Given the description of an element on the screen output the (x, y) to click on. 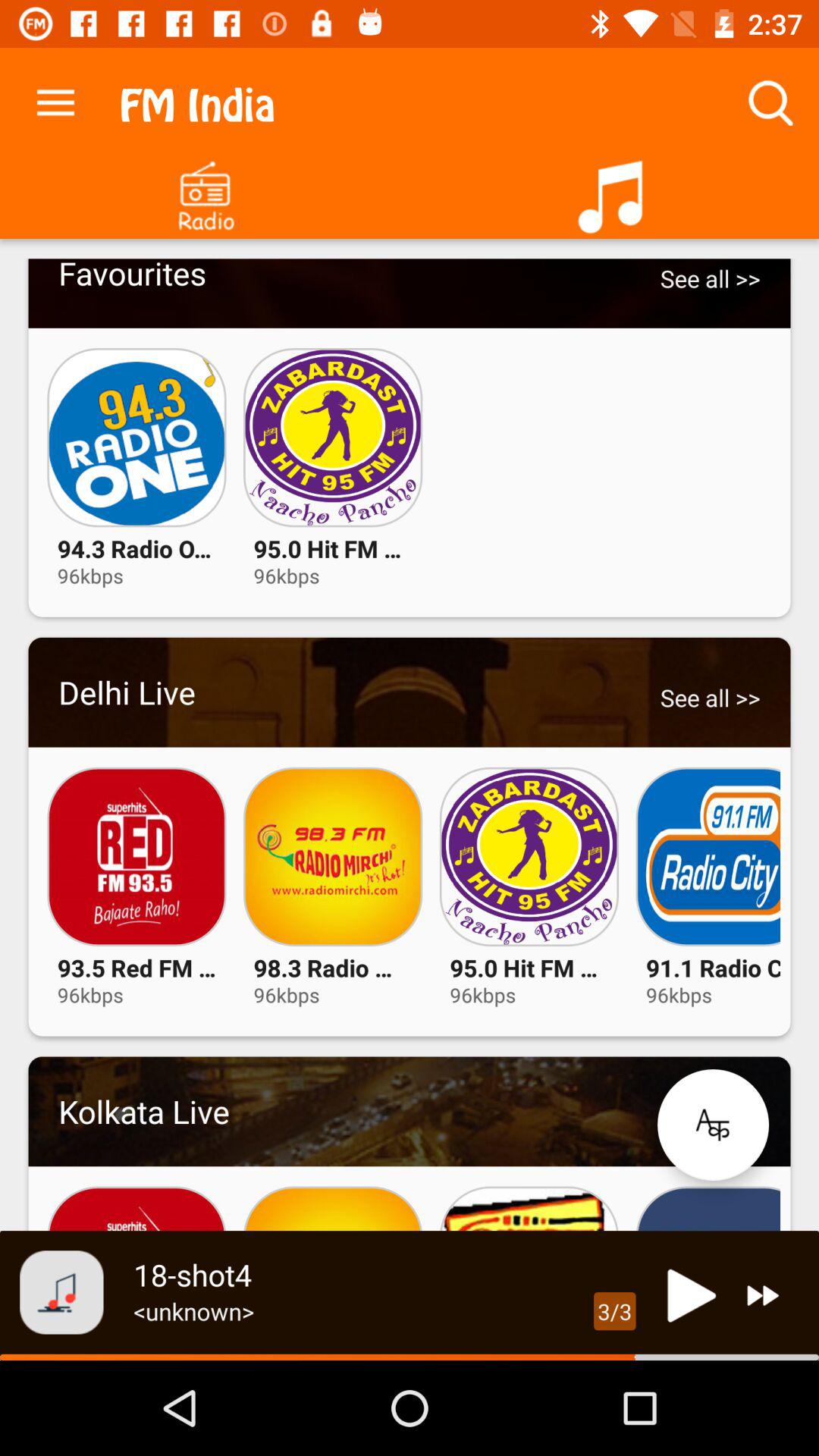
turn off the app next to fm india app (55, 99)
